Given the description of an element on the screen output the (x, y) to click on. 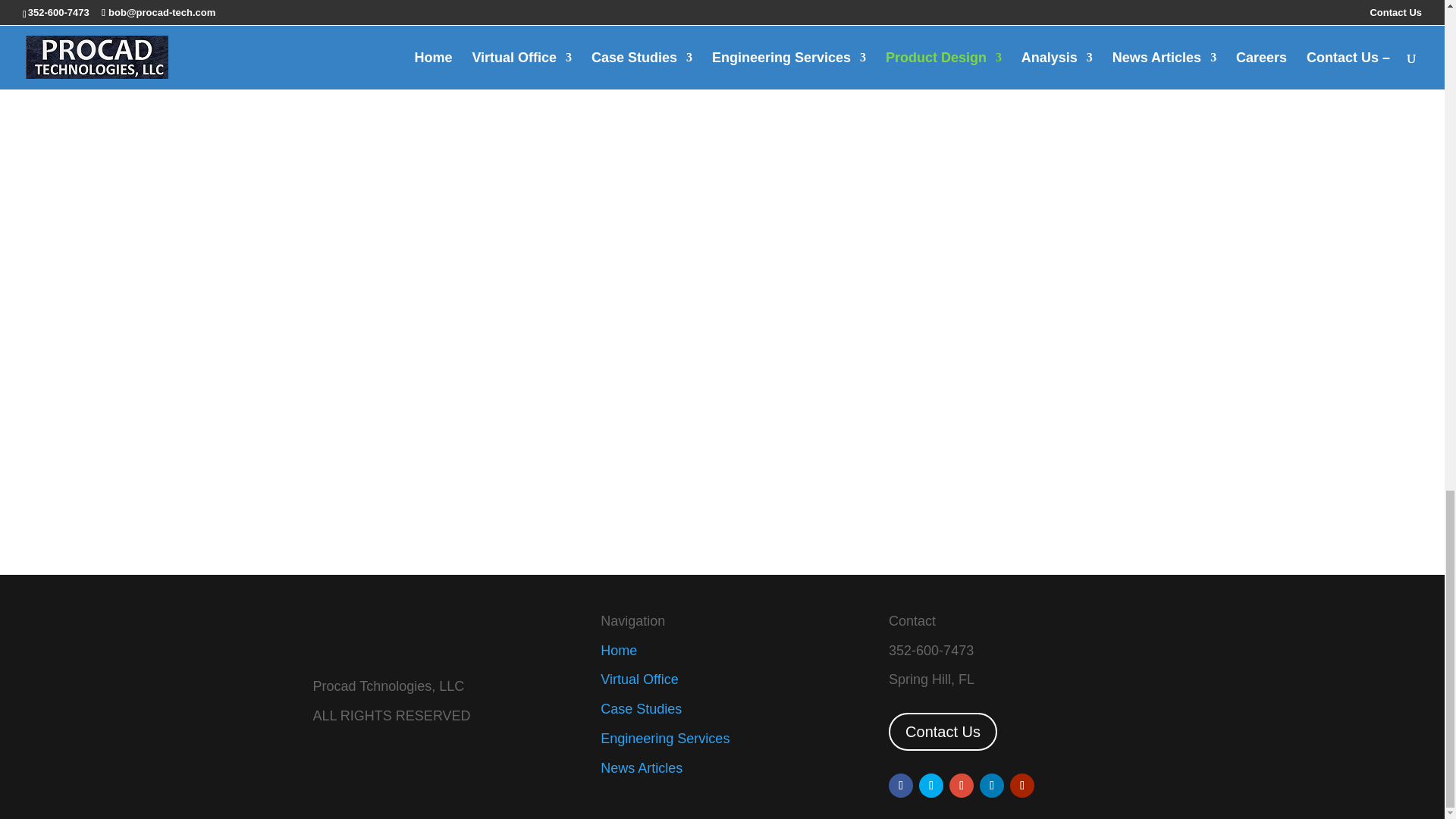
Follow on Youtube (1021, 785)
Follow on Twitter (930, 785)
Follow on LinkedIn (991, 785)
Follow on Facebook (900, 785)
